Given the description of an element on the screen output the (x, y) to click on. 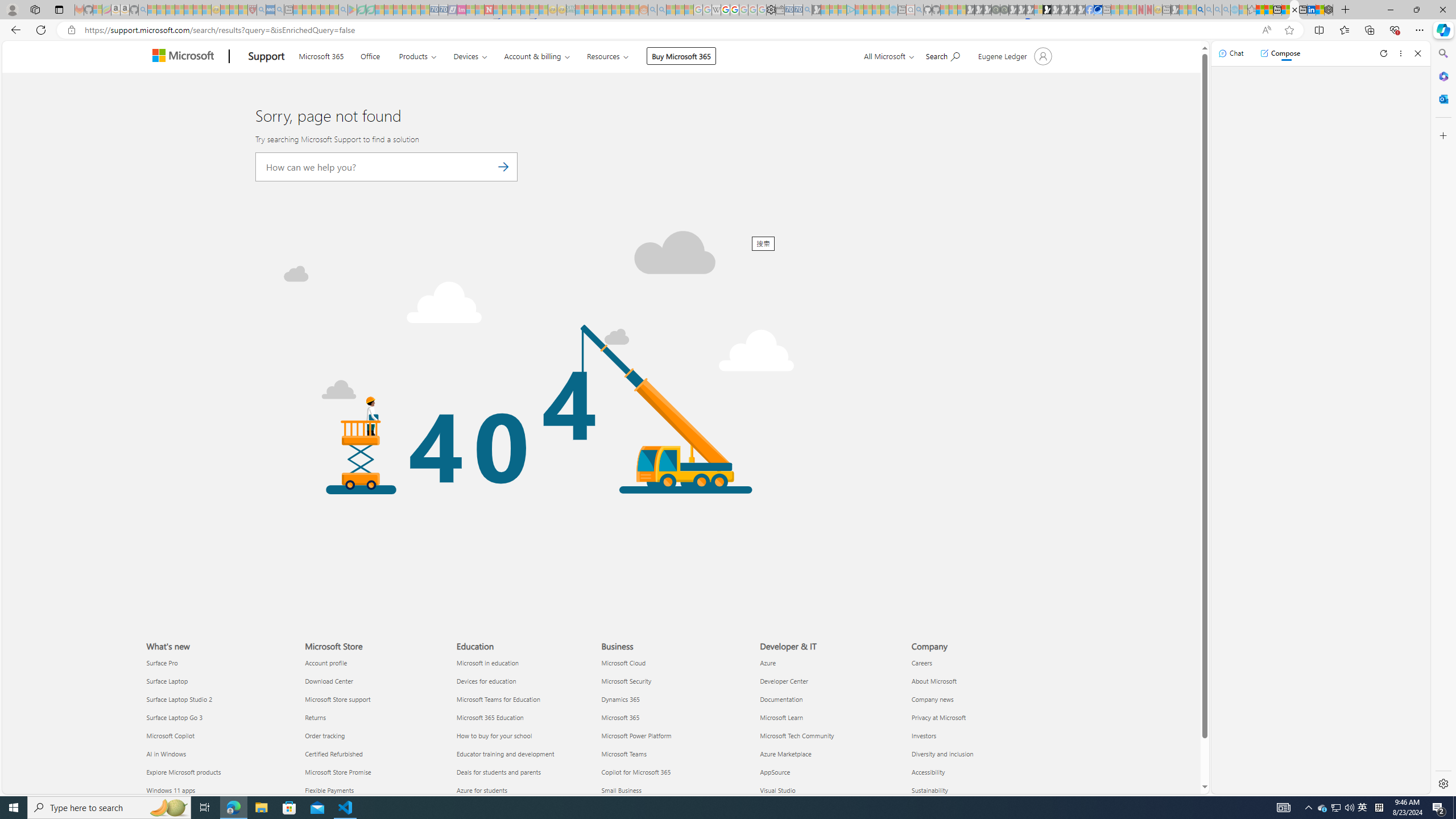
Microsoft (184, 56)
utah sues federal government - Search - Sleeping (279, 9)
Windows 11 apps What's new (170, 789)
MSNBC - MSN - Sleeping (579, 9)
Investors (980, 735)
Windows 11 apps (218, 789)
New Report Confirms 2023 Was Record Hot | Watch - Sleeping (188, 9)
Sign in to your account - Sleeping (1038, 9)
Accessibility (980, 771)
